Given the description of an element on the screen output the (x, y) to click on. 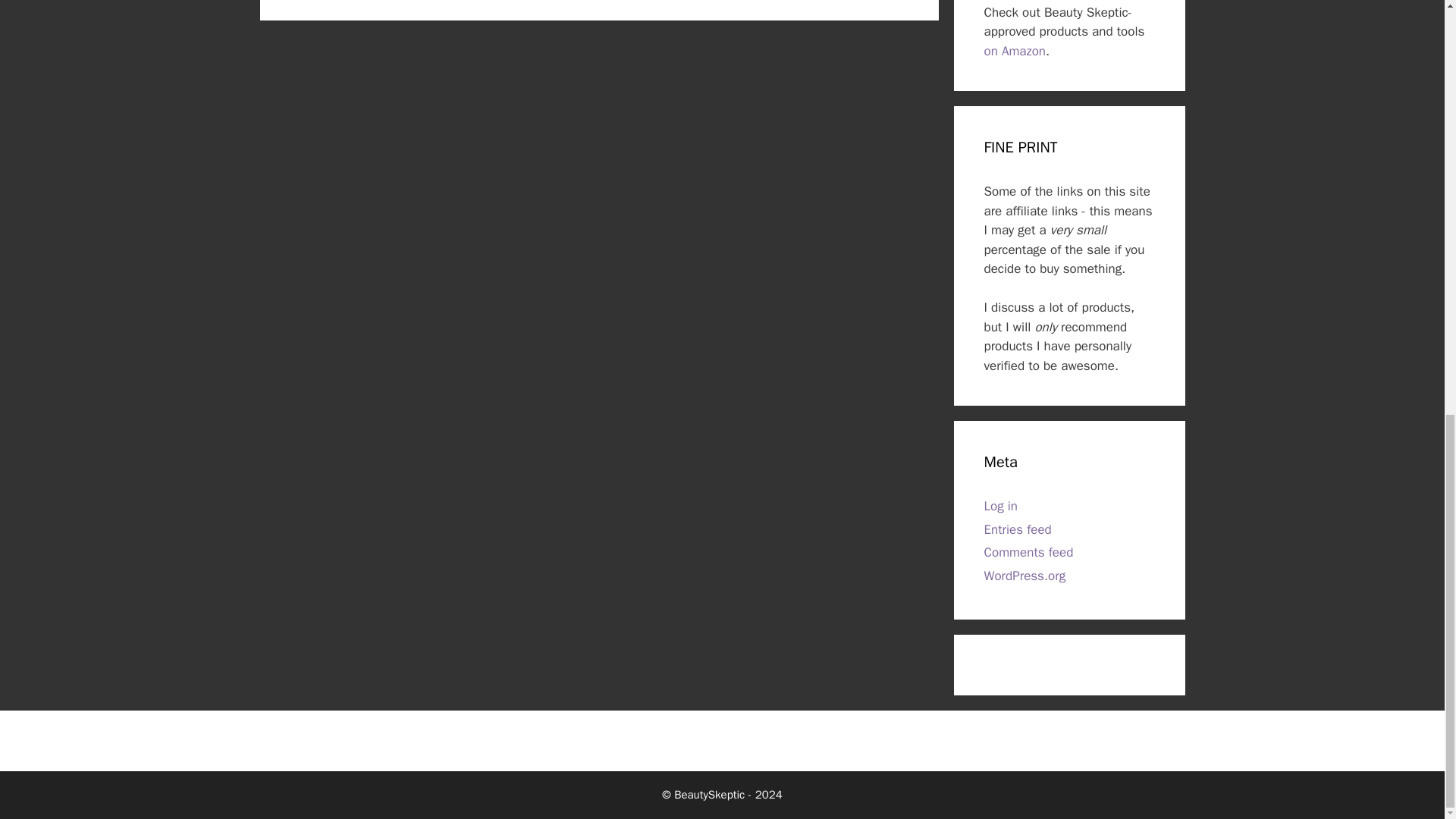
on Amazon (1015, 50)
WordPress.org (1024, 575)
Log in (1000, 505)
Comments feed (1029, 552)
Entries feed (1017, 529)
